Given the description of an element on the screen output the (x, y) to click on. 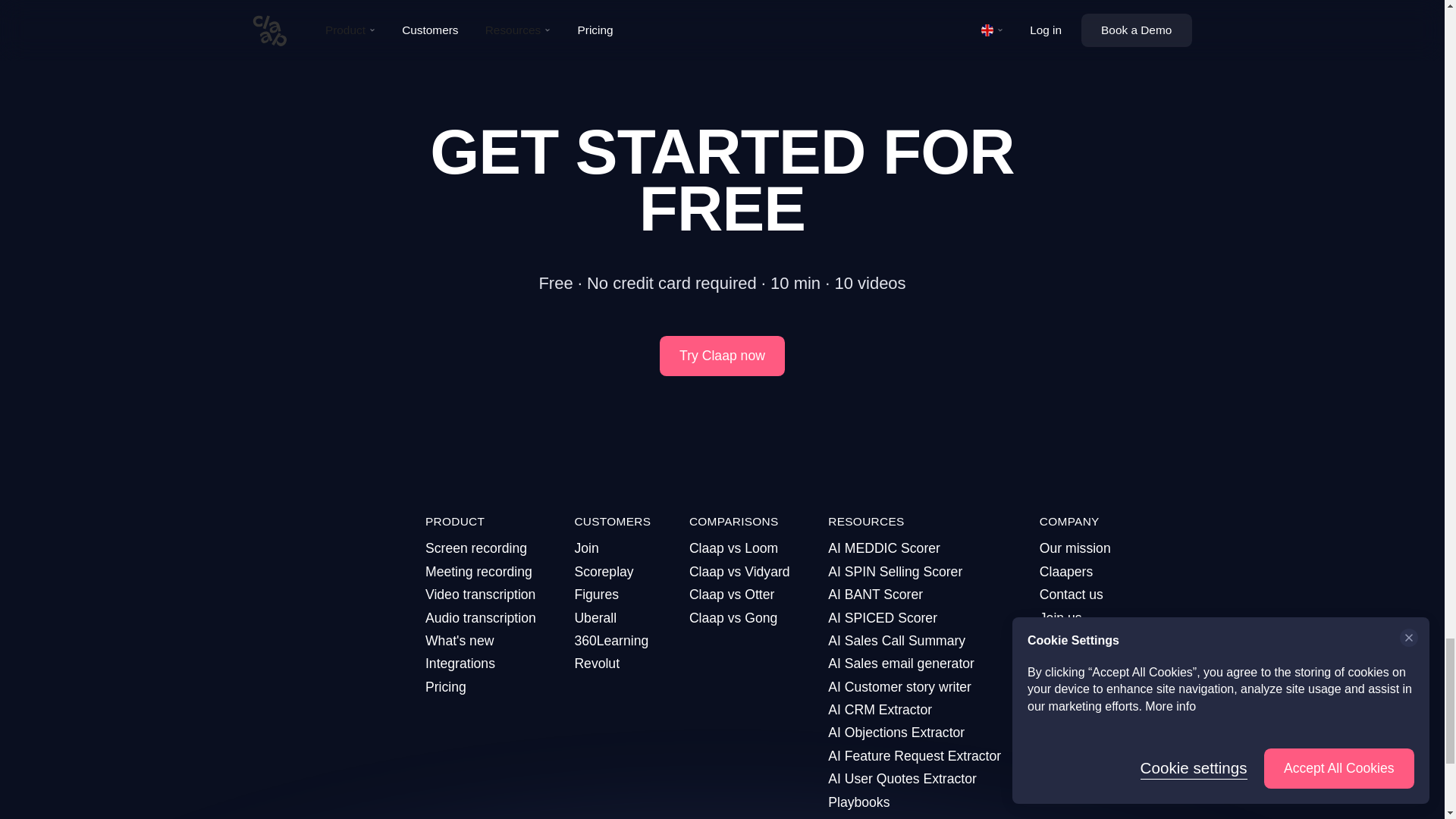
What's new (480, 640)
Audio transcription (480, 617)
Screen recording (480, 548)
Video transcription (480, 594)
Integrations (480, 662)
Pricing (480, 686)
Try Claap now (722, 355)
Meeting recording (480, 571)
